Given the description of an element on the screen output the (x, y) to click on. 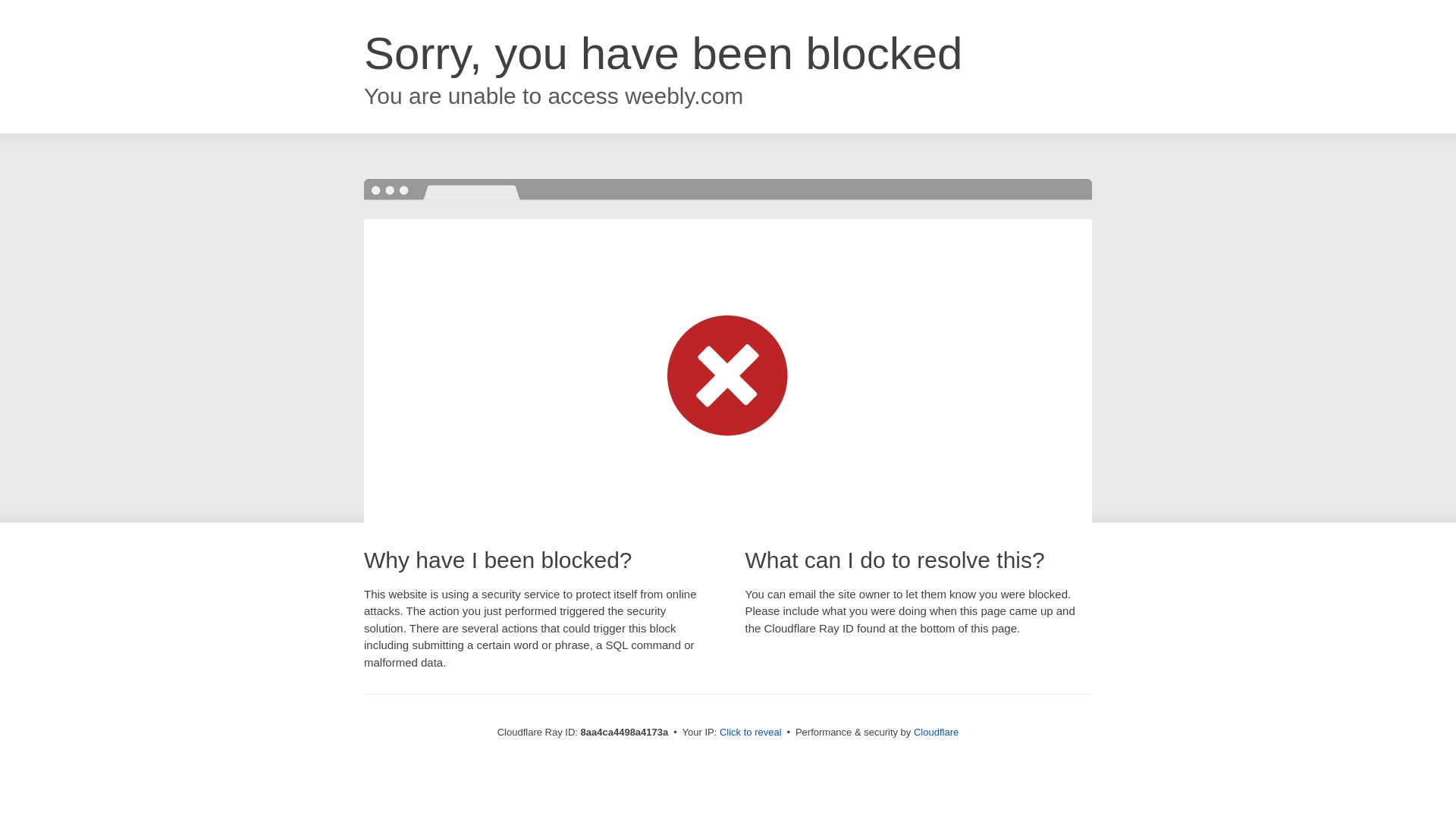
Cloudflare (936, 731)
Click to reveal (750, 732)
